Given the description of an element on the screen output the (x, y) to click on. 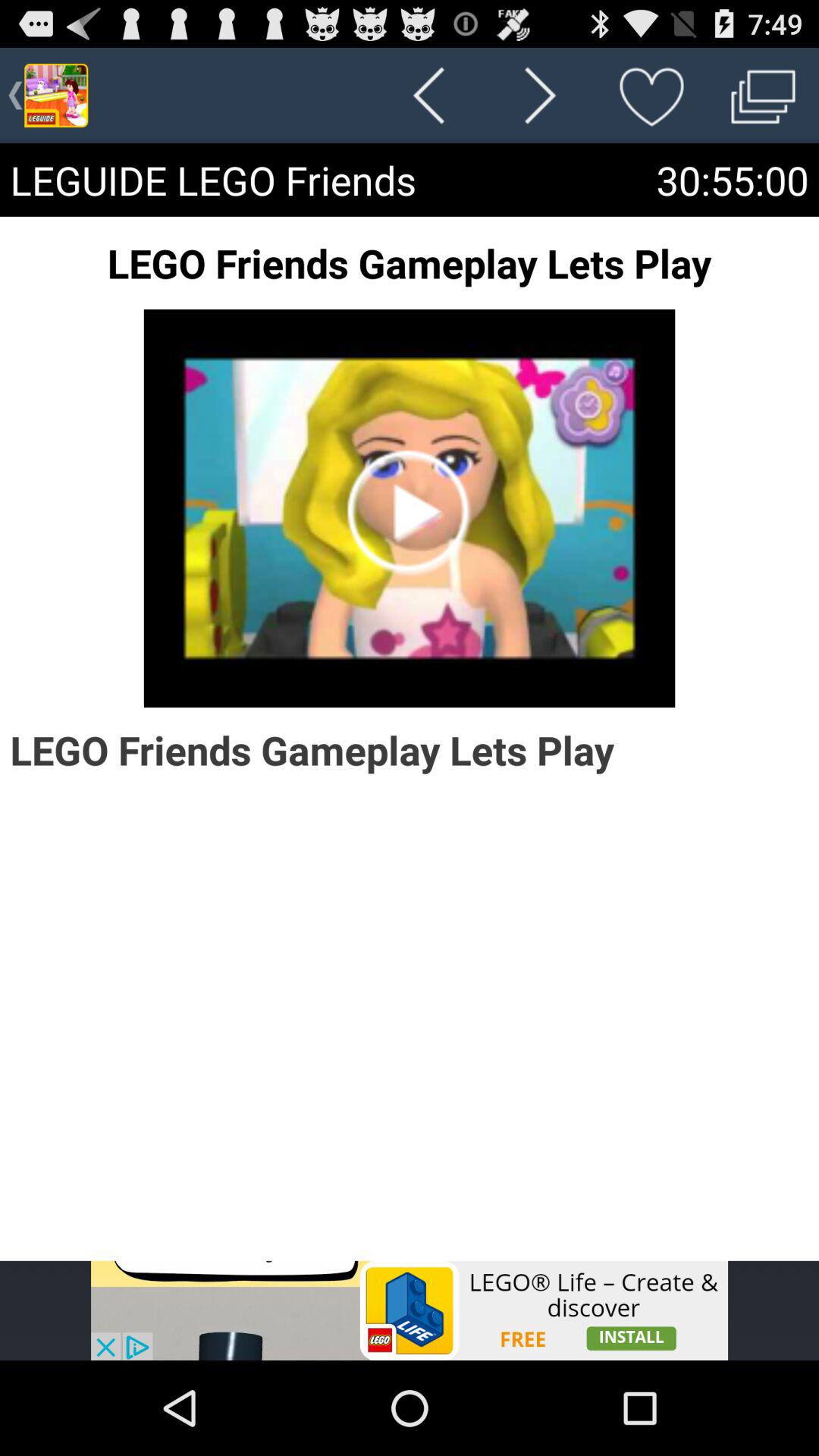
web add (409, 1310)
